Given the description of an element on the screen output the (x, y) to click on. 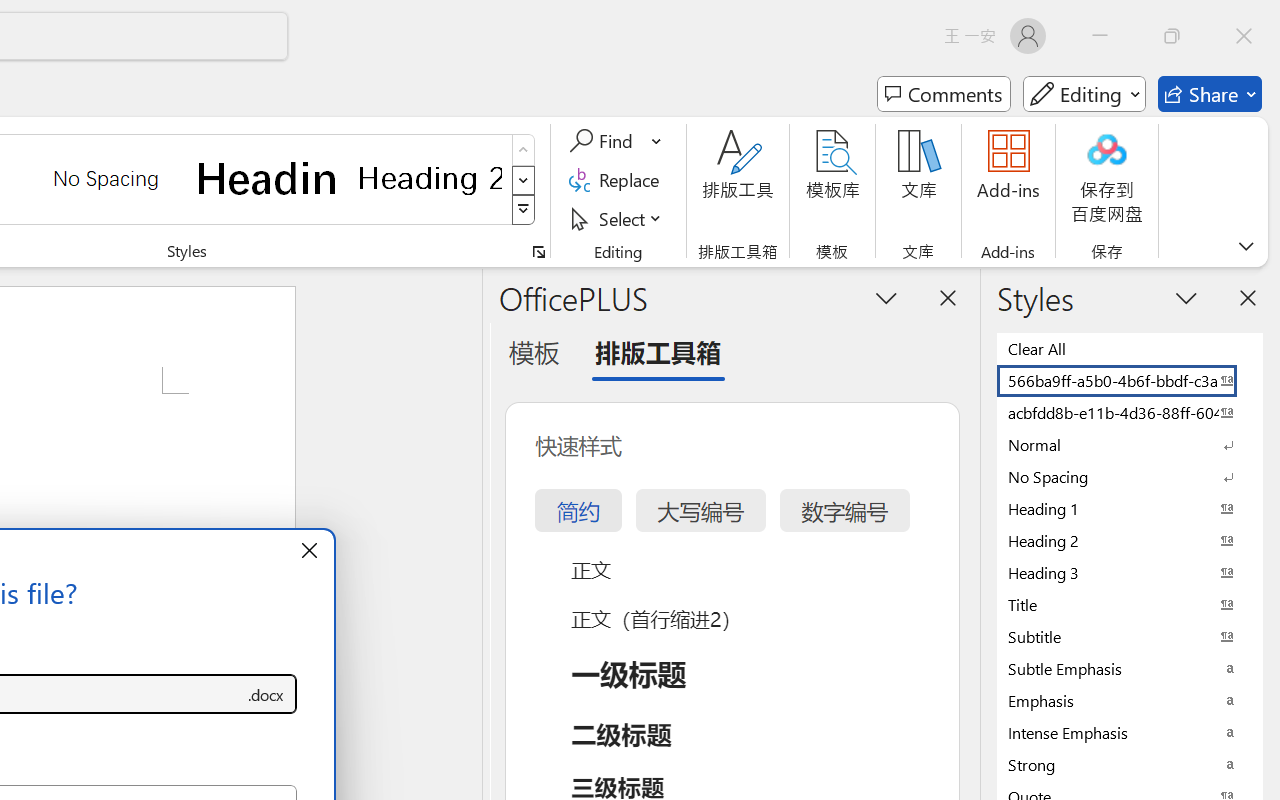
Subtitle (1130, 636)
Heading 2 (429, 178)
Comments (943, 94)
acbfdd8b-e11b-4d36-88ff-6049b138f862 (1130, 412)
Save as type (265, 694)
566ba9ff-a5b0-4b6f-bbdf-c3ab41993fc2 (1130, 380)
Heading 1 (267, 178)
Row up (523, 150)
Minimize (1099, 36)
Find (604, 141)
